Given the description of an element on the screen output the (x, y) to click on. 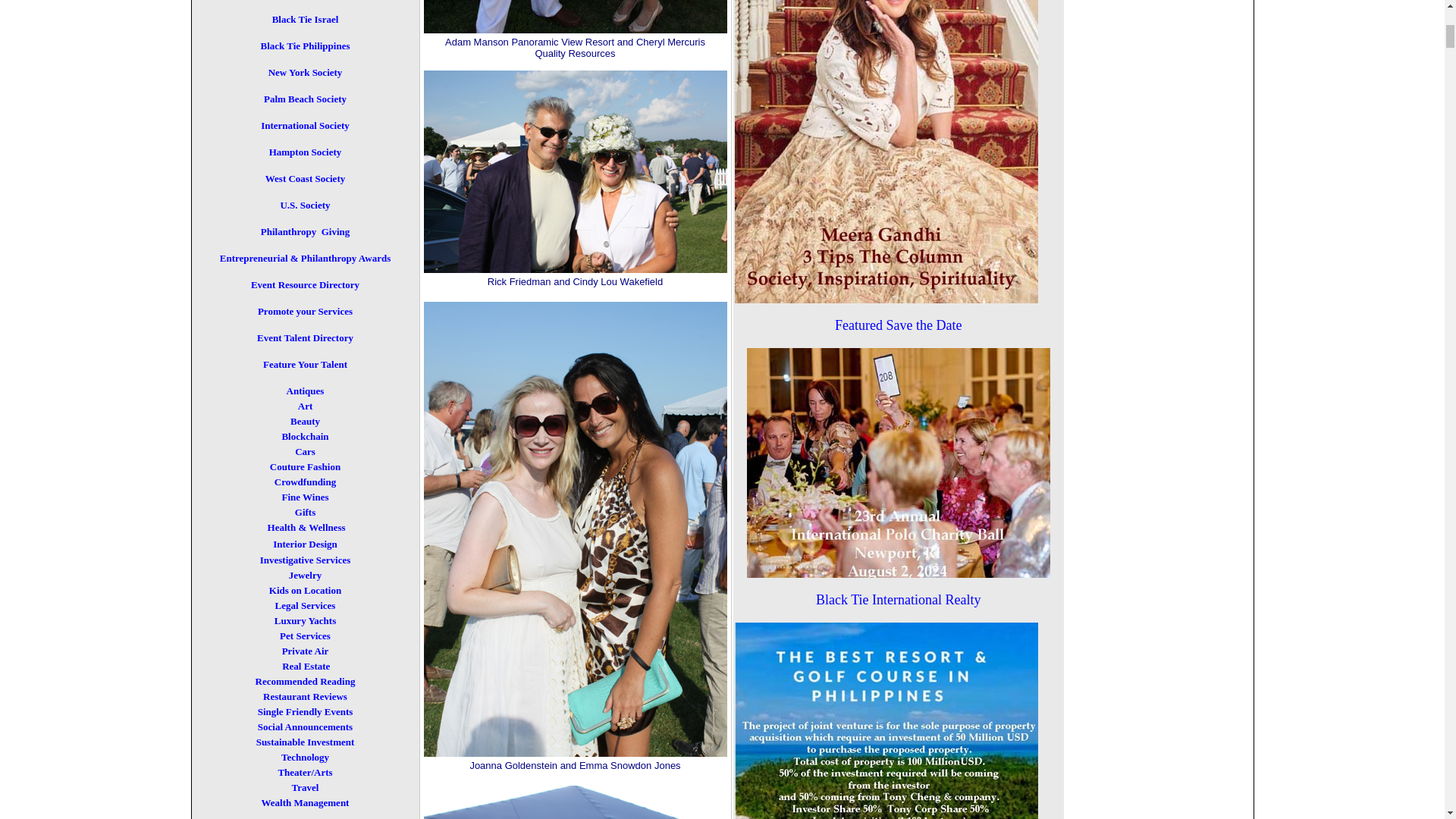
Cars (305, 451)
Hampton Society (305, 152)
Beauty (304, 421)
West Coast Society (304, 179)
International Society (304, 126)
Palm Beach Society (304, 99)
Philanthropy  Giving (305, 232)
Blockchain (305, 436)
Antiques (305, 391)
Crowdfunding (305, 482)
U.S. Society (304, 205)
Black Tie Israel (305, 19)
Event Talen (282, 338)
Black Tie Philippines (304, 45)
Couture Fashion (304, 467)
